Given the description of an element on the screen output the (x, y) to click on. 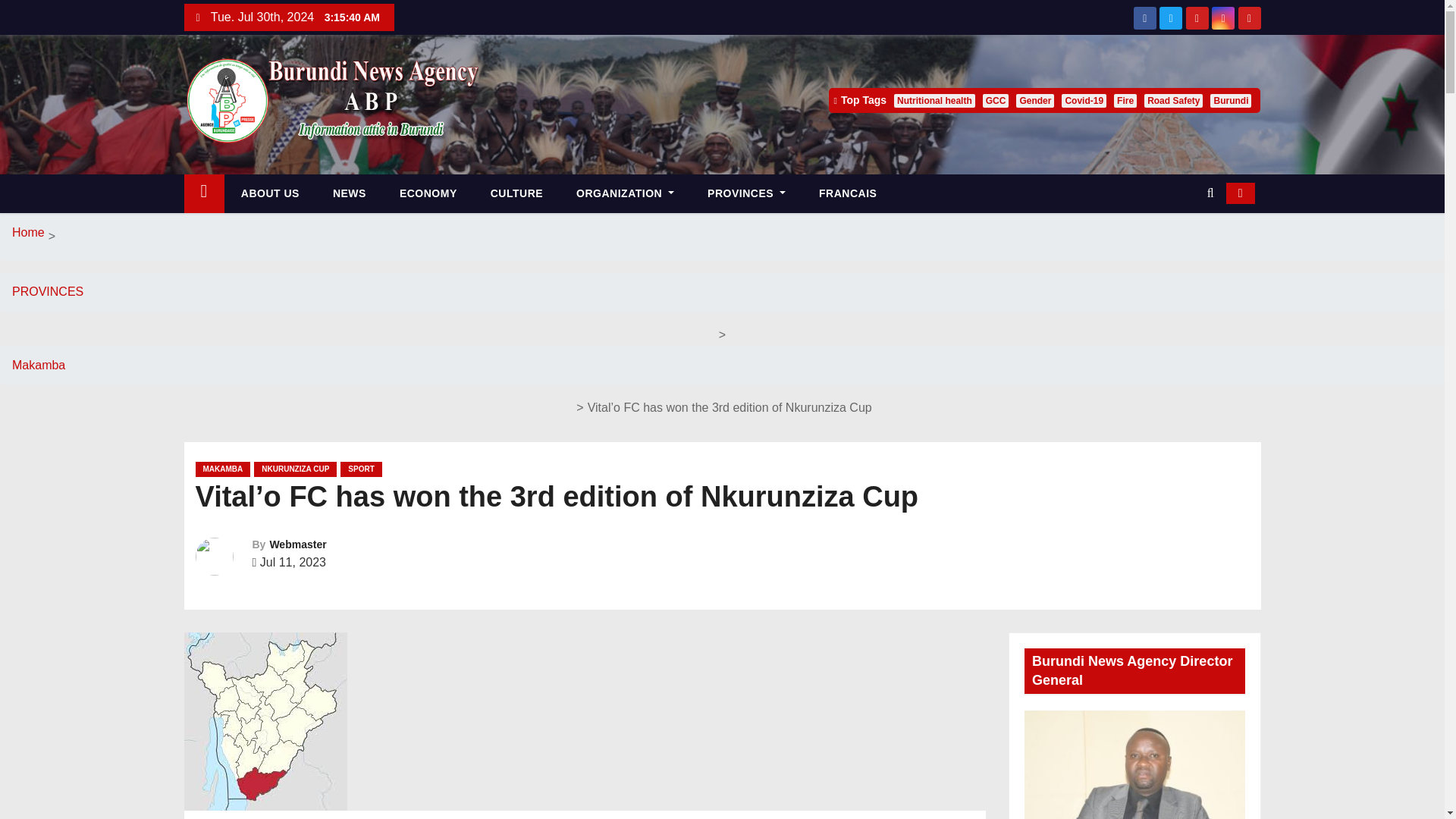
ORGANIZATION (624, 193)
ABOUT US (269, 193)
Gender (1035, 100)
ECONOMY (428, 193)
PROVINCES (746, 193)
Road Safety (1173, 100)
Fire (1125, 100)
GCC (995, 100)
ORGANIZATION (624, 193)
NEWS (348, 193)
ECONOMY (428, 193)
PROVINCES (746, 193)
Burundi (1229, 100)
NEWS (348, 193)
Covid-19 (1083, 100)
